Given the description of an element on the screen output the (x, y) to click on. 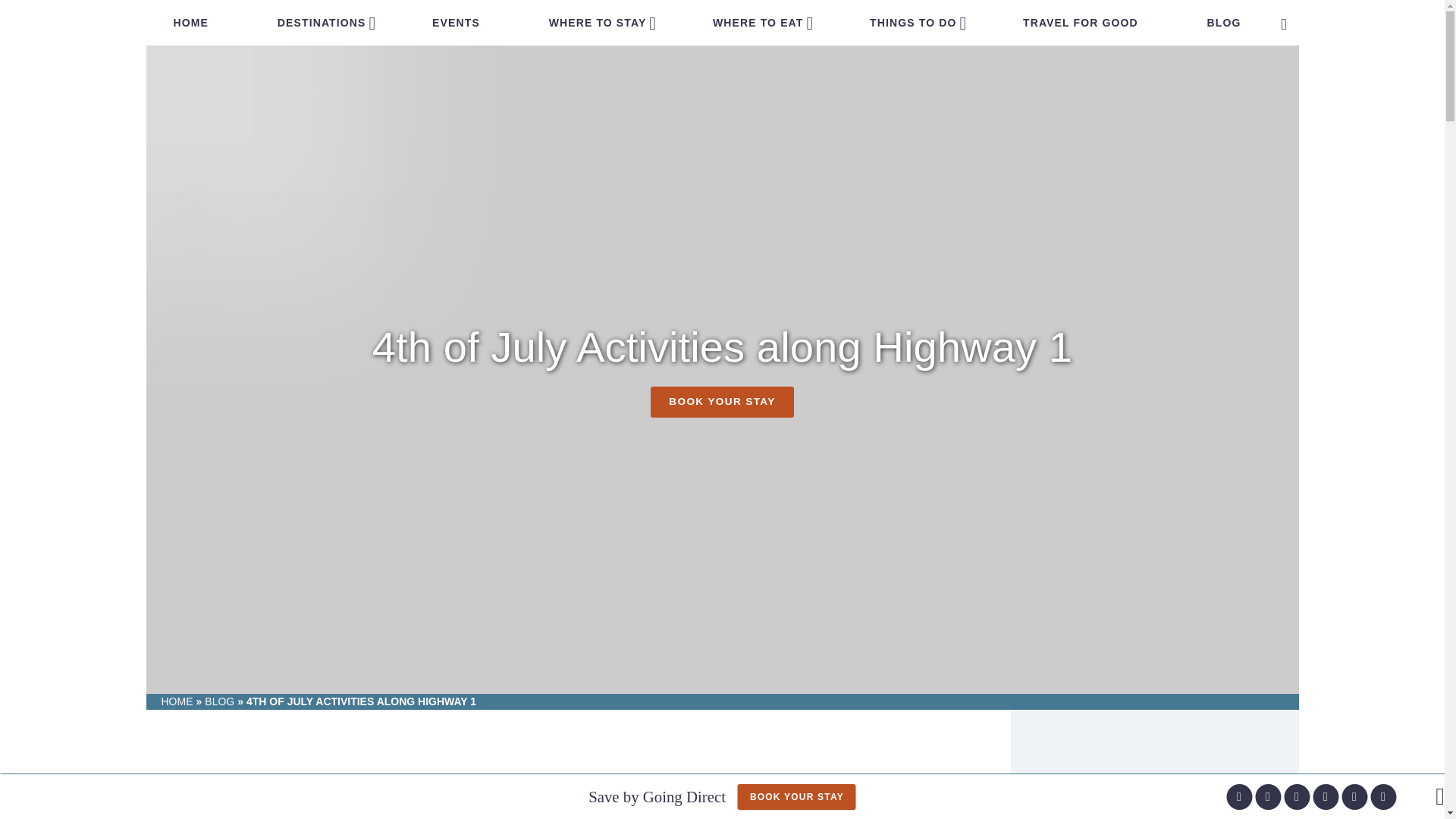
WHERE TO EAT (757, 22)
WHERE TO STAY (598, 22)
HOME (189, 22)
DESTINATIONS (321, 22)
THINGS TO DO (912, 22)
EVENTS (455, 22)
